Given the description of an element on the screen output the (x, y) to click on. 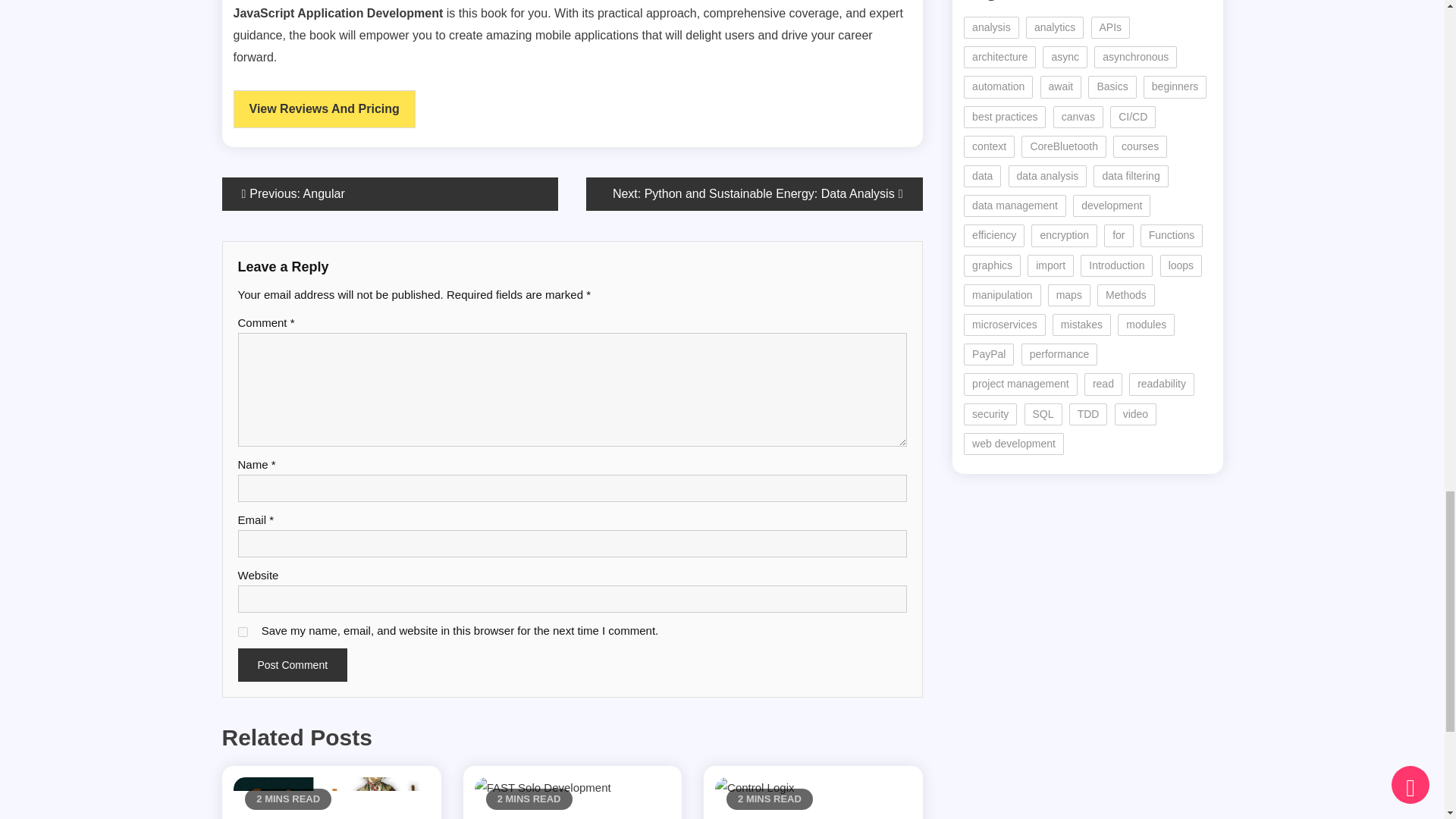
Post Comment (292, 664)
Previous: Angular (389, 193)
yes (242, 632)
Post Comment (292, 664)
Next: Python and Sustainable Energy: Data Analysis (754, 193)
View Reviews And Pricing (323, 109)
